Given the description of an element on the screen output the (x, y) to click on. 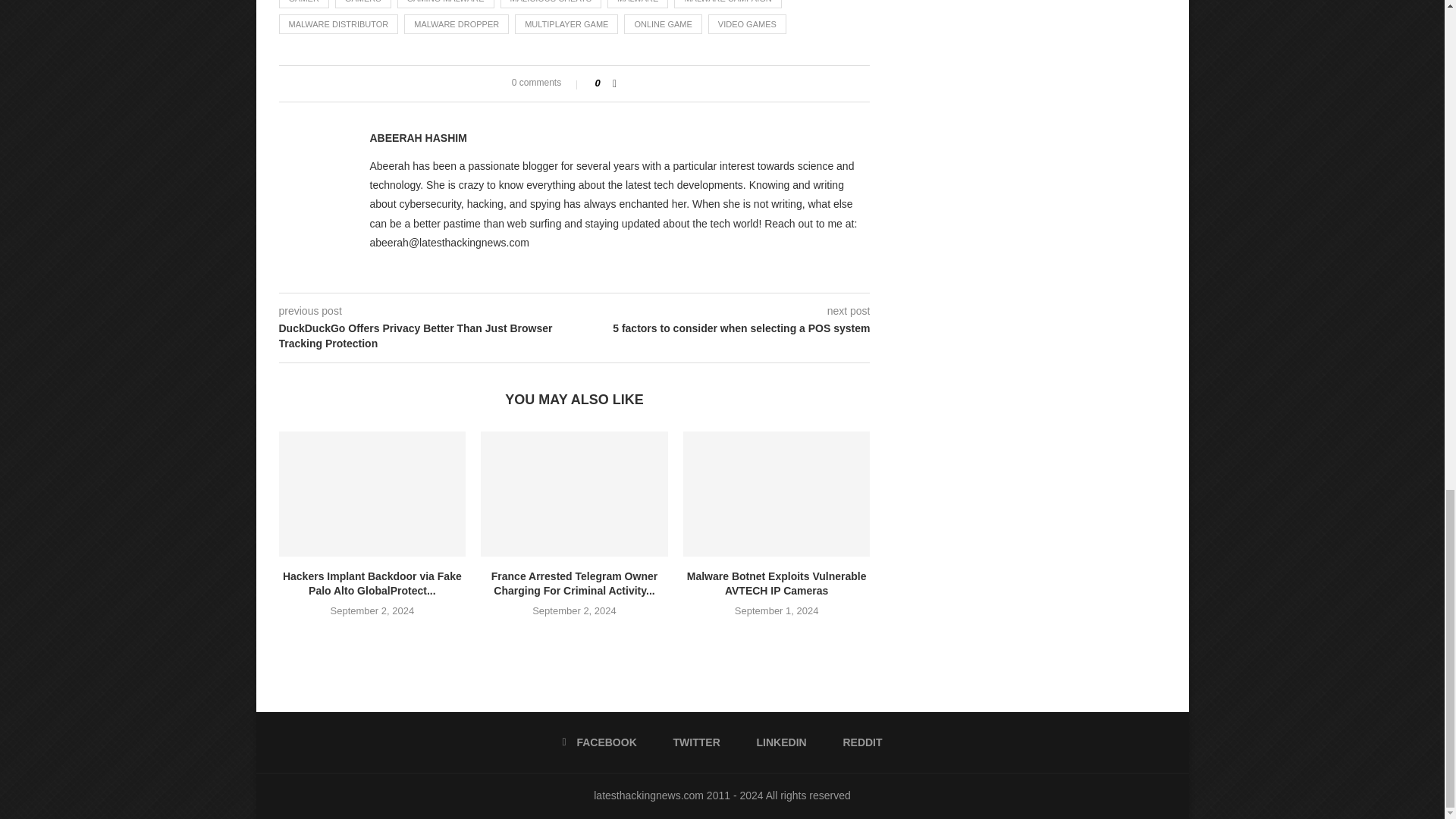
Malware Botnet Exploits Vulnerable AVTECH IP Cameras (776, 493)
Author Abeerah Hashim (418, 138)
